Given the description of an element on the screen output the (x, y) to click on. 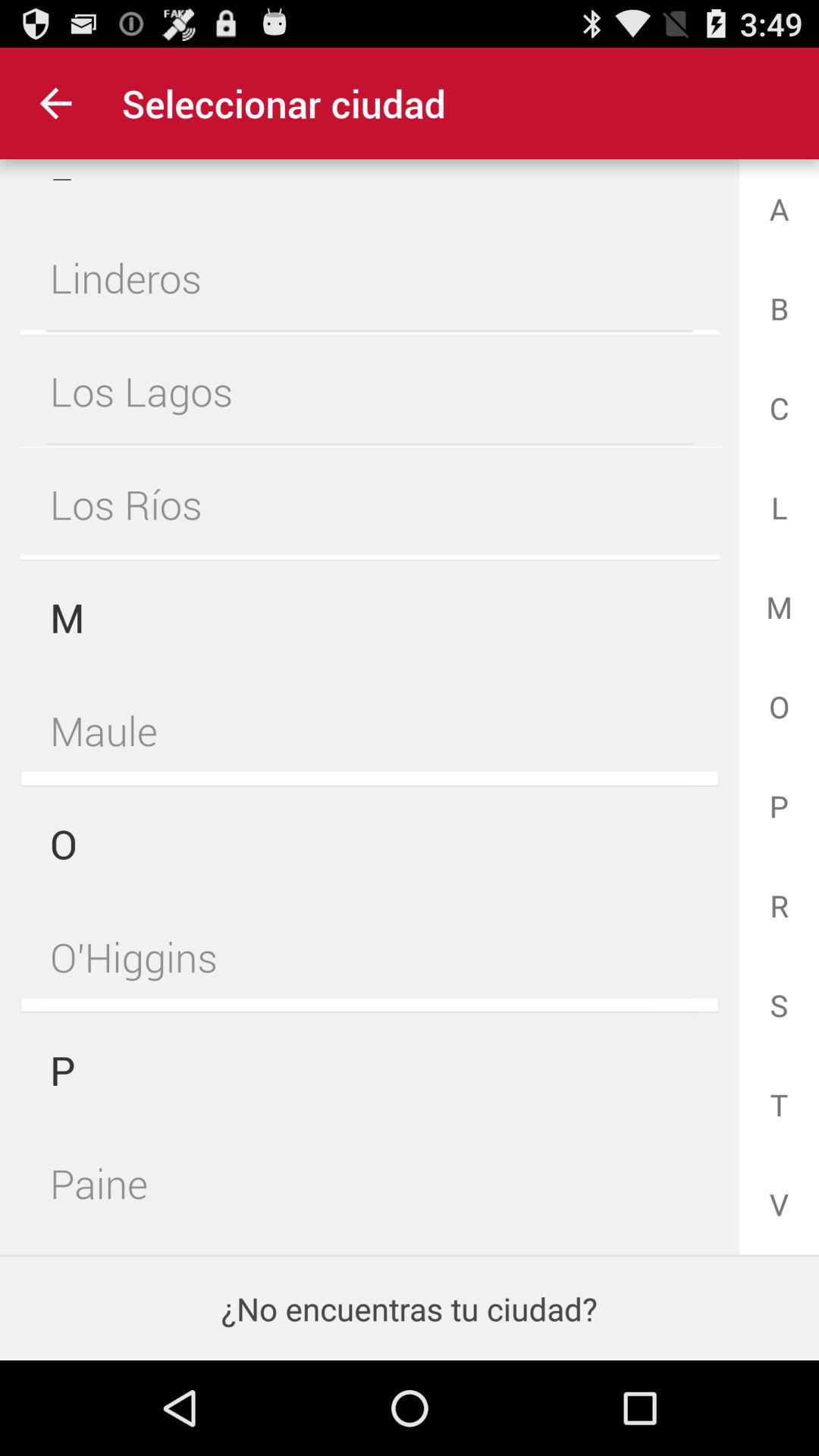
choose o'higgins icon (369, 956)
